Given the description of an element on the screen output the (x, y) to click on. 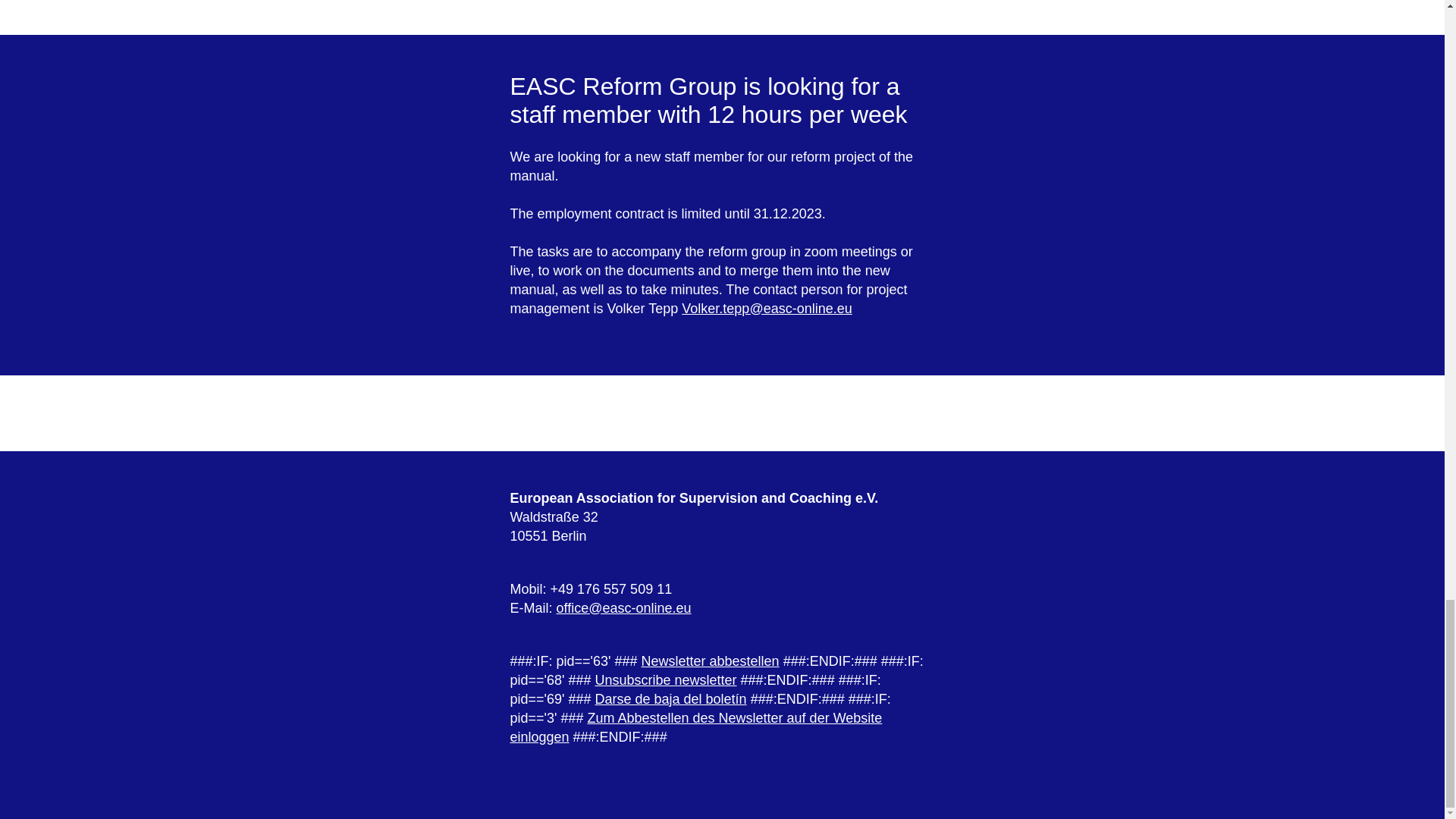
Zum Abbestellen des Newsletter auf der Website einloggen (695, 726)
Newsletter abbestellen (710, 661)
Unsubscribe newsletter (665, 679)
